Given the description of an element on the screen output the (x, y) to click on. 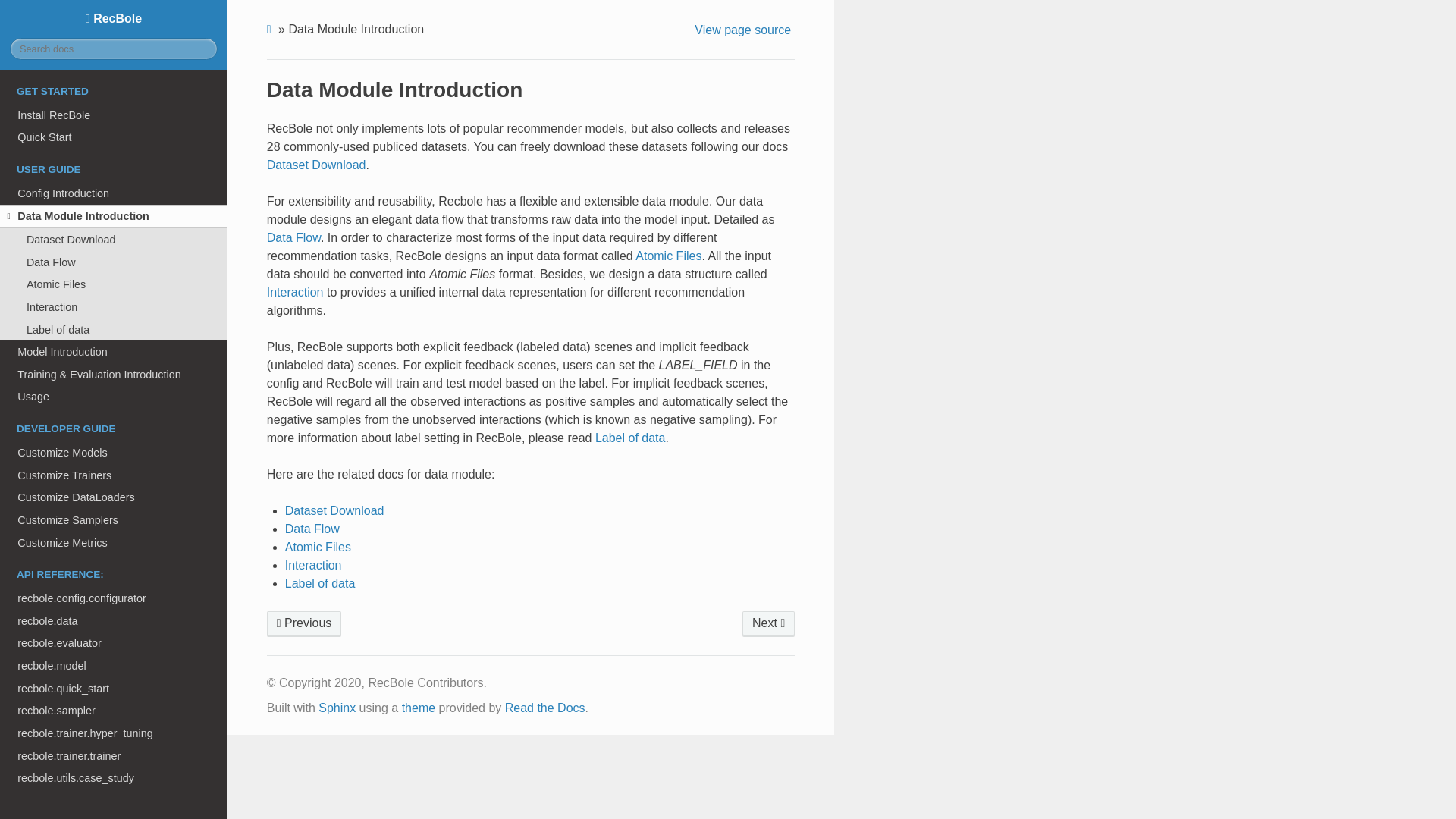
Data Flow (113, 261)
Dataset Download (316, 164)
Model Introduction (113, 351)
Dataset Download (113, 239)
Data Flow (293, 237)
RecBole (114, 18)
Quick Start (113, 137)
Label of data (113, 329)
Customize DataLoaders (113, 497)
recbole.data (113, 620)
View page source (744, 29)
Install RecBole (113, 115)
Dataset Download (334, 510)
recbole.config.configurator (113, 598)
Data Module Introduction (113, 216)
